Given the description of an element on the screen output the (x, y) to click on. 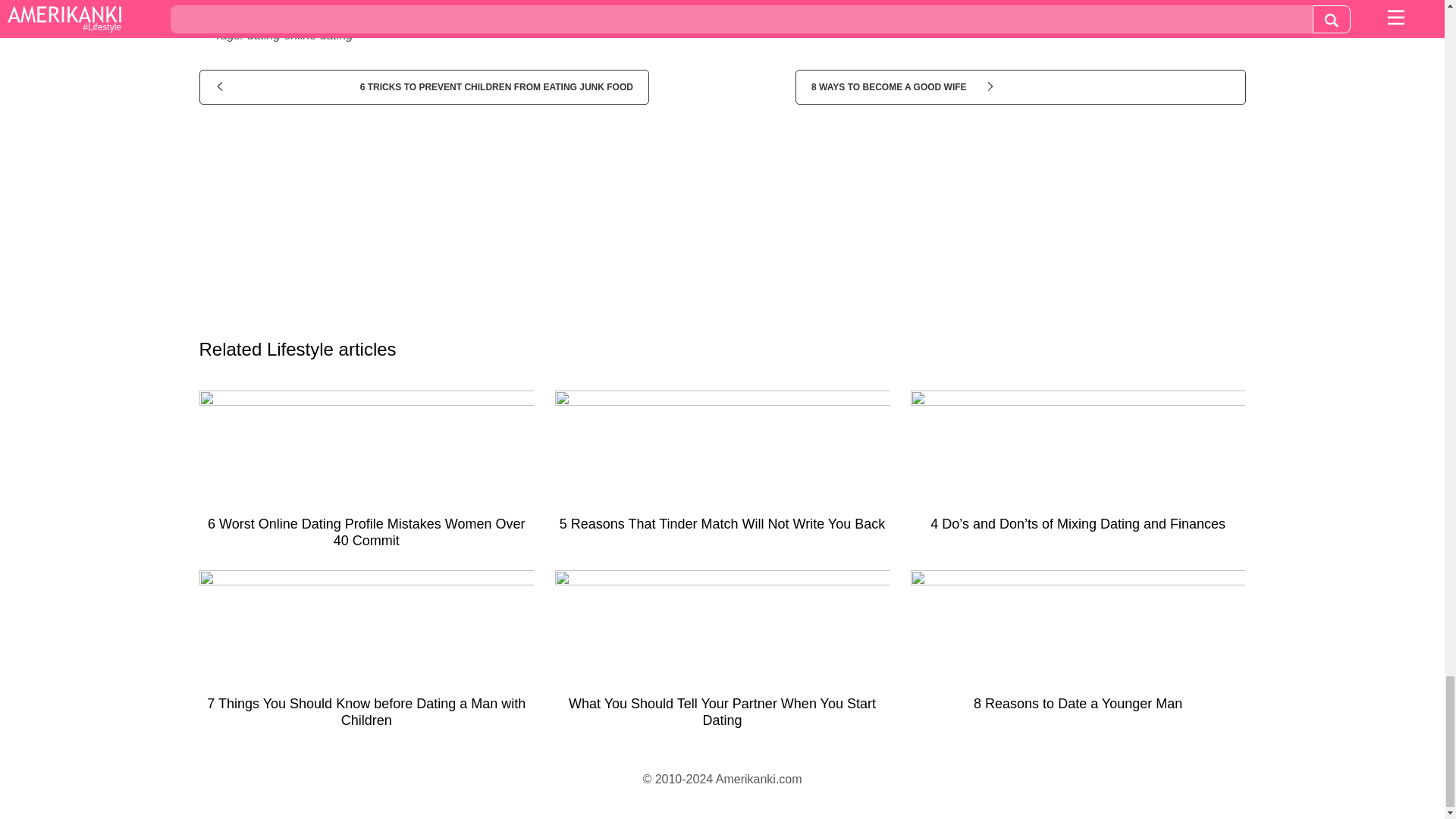
8 WAYS TO BECOME A GOOD WIFE (1019, 86)
6 Worst Online Dating Profile Mistakes Women Over 40 Commit (366, 475)
6 TRICKS TO PREVENT CHILDREN FROM EATING JUNK FOOD (422, 86)
5 Reasons That Tinder Match Will Not Write You Back (721, 467)
8 Ways to Become a Good Wife (1019, 86)
Share on Facebook (381, 5)
6 Tricks to Prevent Children from Eating Junk Food (422, 86)
Share on Twitter (748, 5)
